Given the description of an element on the screen output the (x, y) to click on. 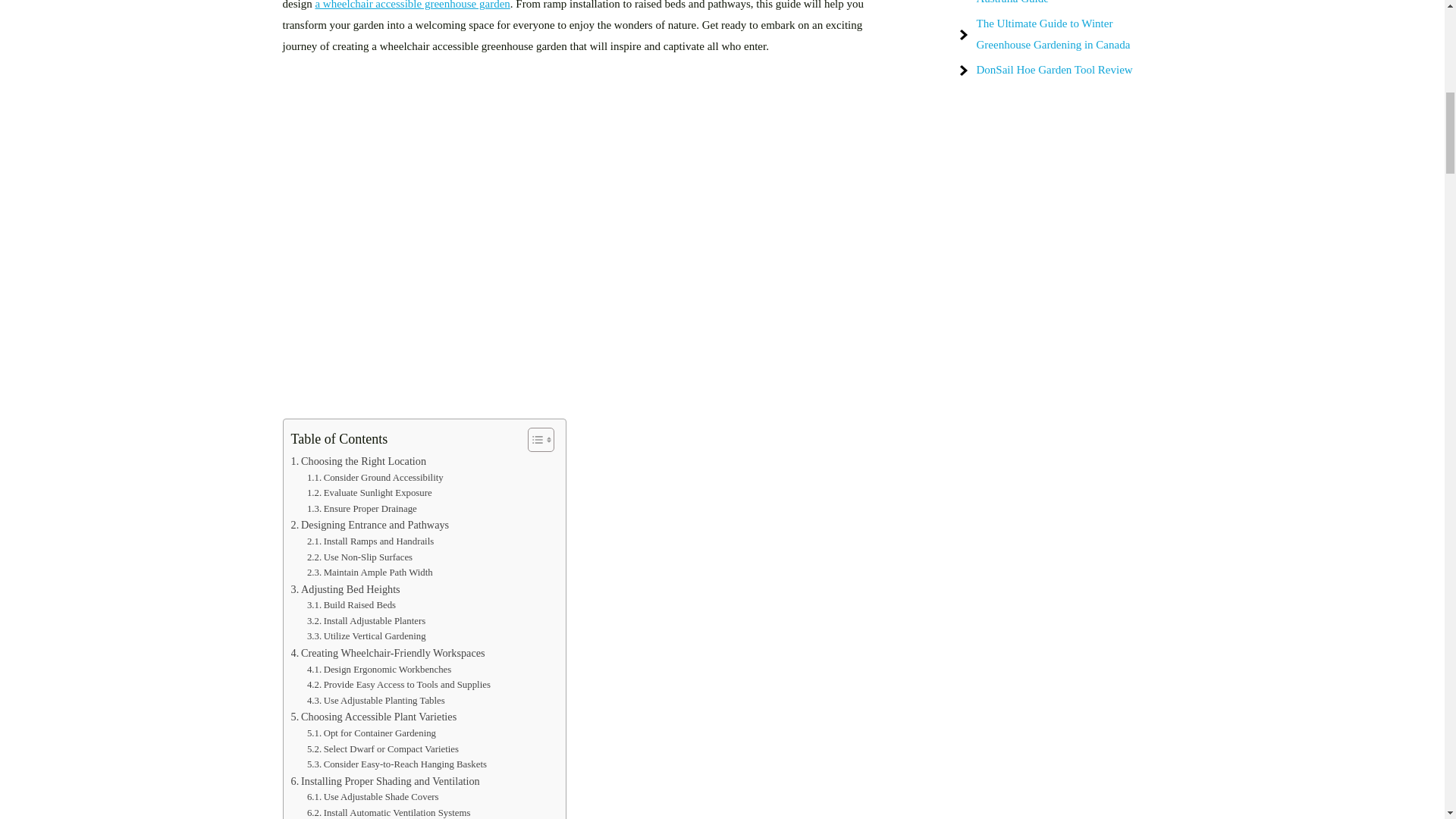
Consider Ground Accessibility (375, 478)
Maintain Ample Path Width (369, 572)
Build Raised Beds (351, 605)
Use Adjustable Planting Tables (376, 700)
Evaluate Sunlight Exposure (369, 493)
Design Ergonomic Workbenches (379, 669)
Adjusting Bed Heights (345, 589)
Install Adjustable Planters (366, 621)
Adjusting Bed Heights (345, 589)
Evaluate Sunlight Exposure (369, 493)
Use Non-Slip Surfaces (359, 557)
Provide Easy Access to Tools and Supplies (398, 684)
Opt for Container Gardening (371, 733)
Design Ergonomic Workbenches (379, 669)
Install Ramps and Handrails (370, 541)
